Given the description of an element on the screen output the (x, y) to click on. 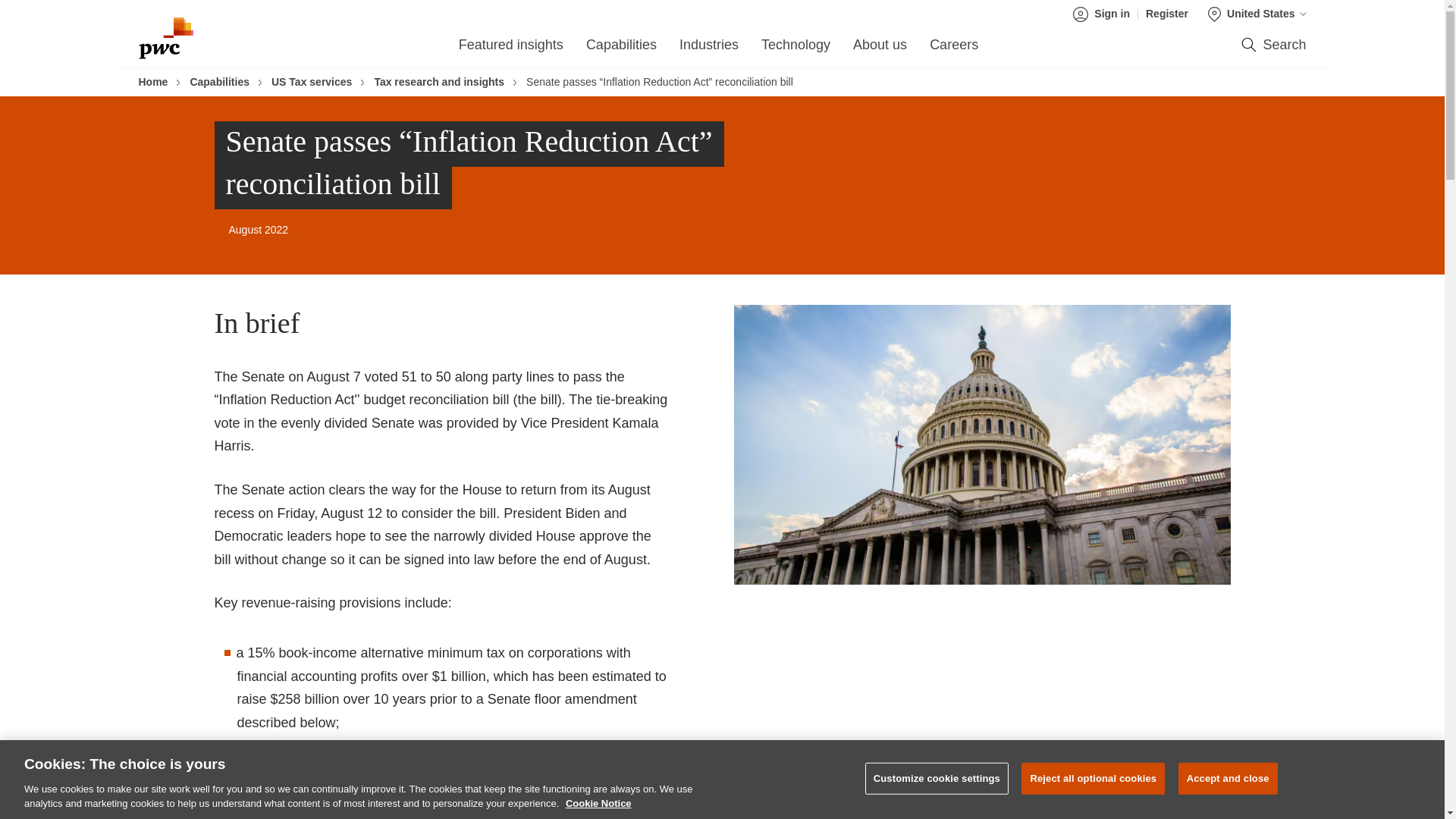
United States (1257, 13)
Industries (708, 49)
About us (880, 49)
Capabilities (621, 49)
Sign in (1105, 13)
Register (1166, 13)
Technology (795, 49)
Careers (954, 49)
Featured insights (510, 49)
